Given the description of an element on the screen output the (x, y) to click on. 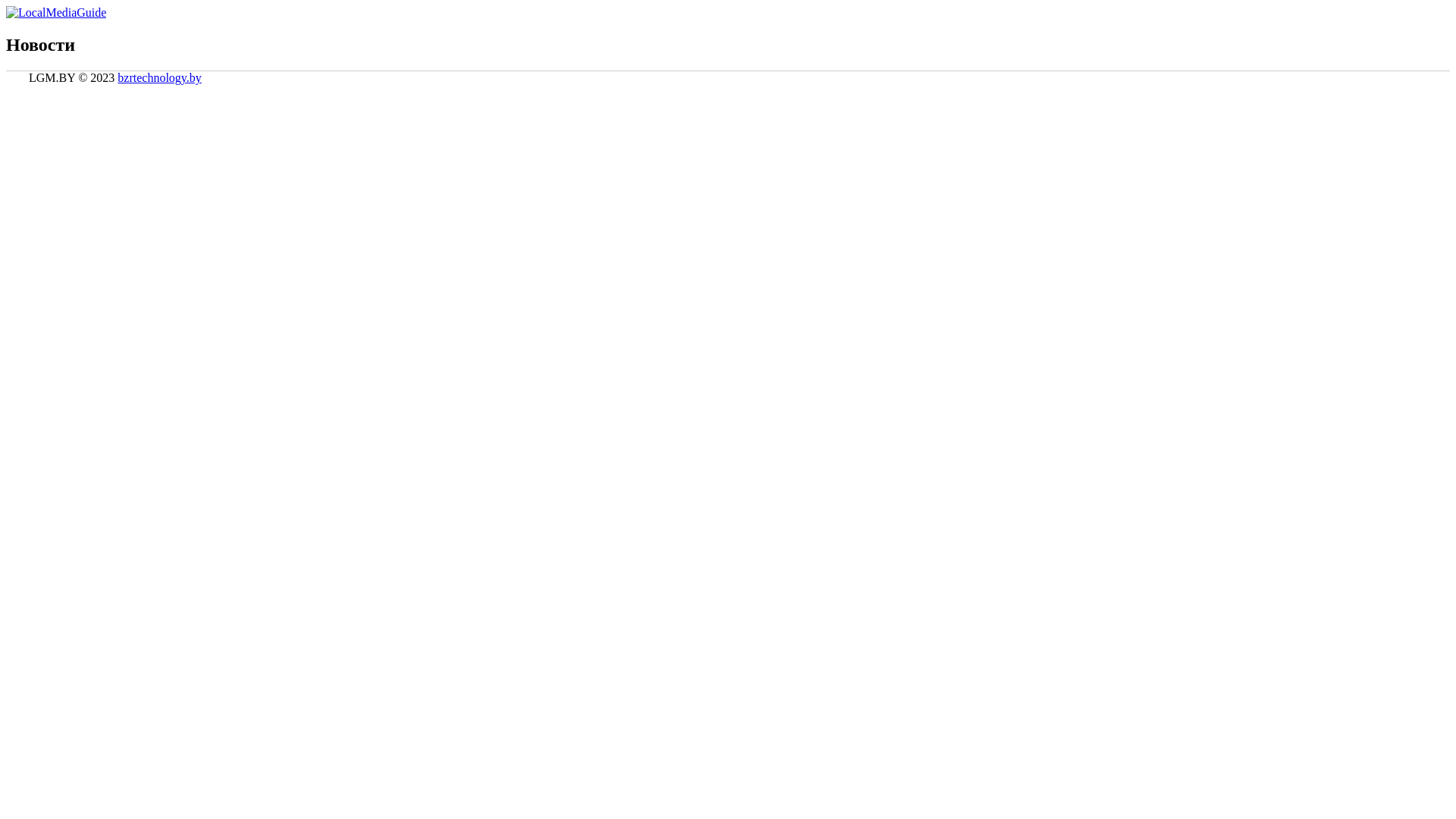
bzrtechnology.by Element type: text (158, 77)
